Given the description of an element on the screen output the (x, y) to click on. 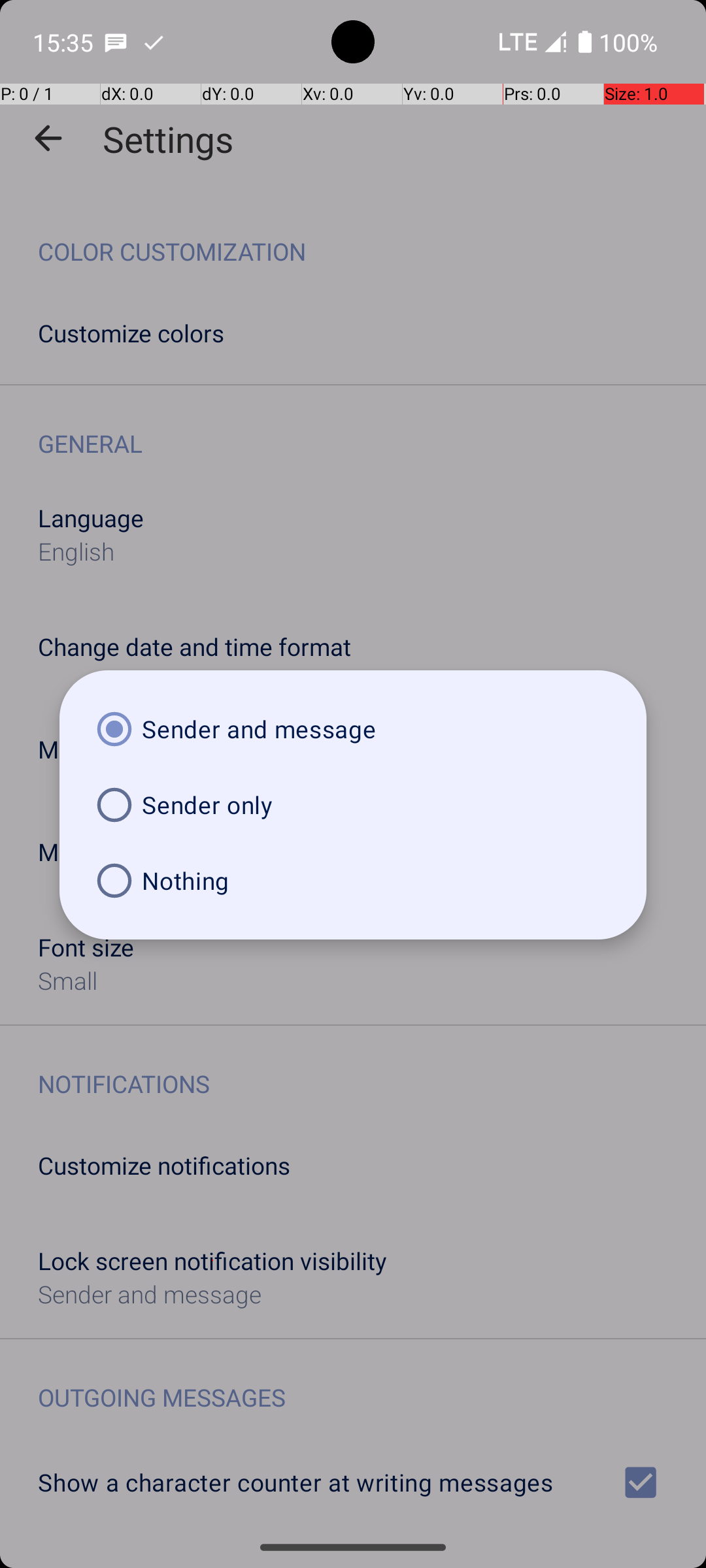
Sender and message Element type: android.widget.RadioButton (352, 729)
Sender only Element type: android.widget.RadioButton (352, 804)
Nothing Element type: android.widget.RadioButton (352, 880)
